Given the description of an element on the screen output the (x, y) to click on. 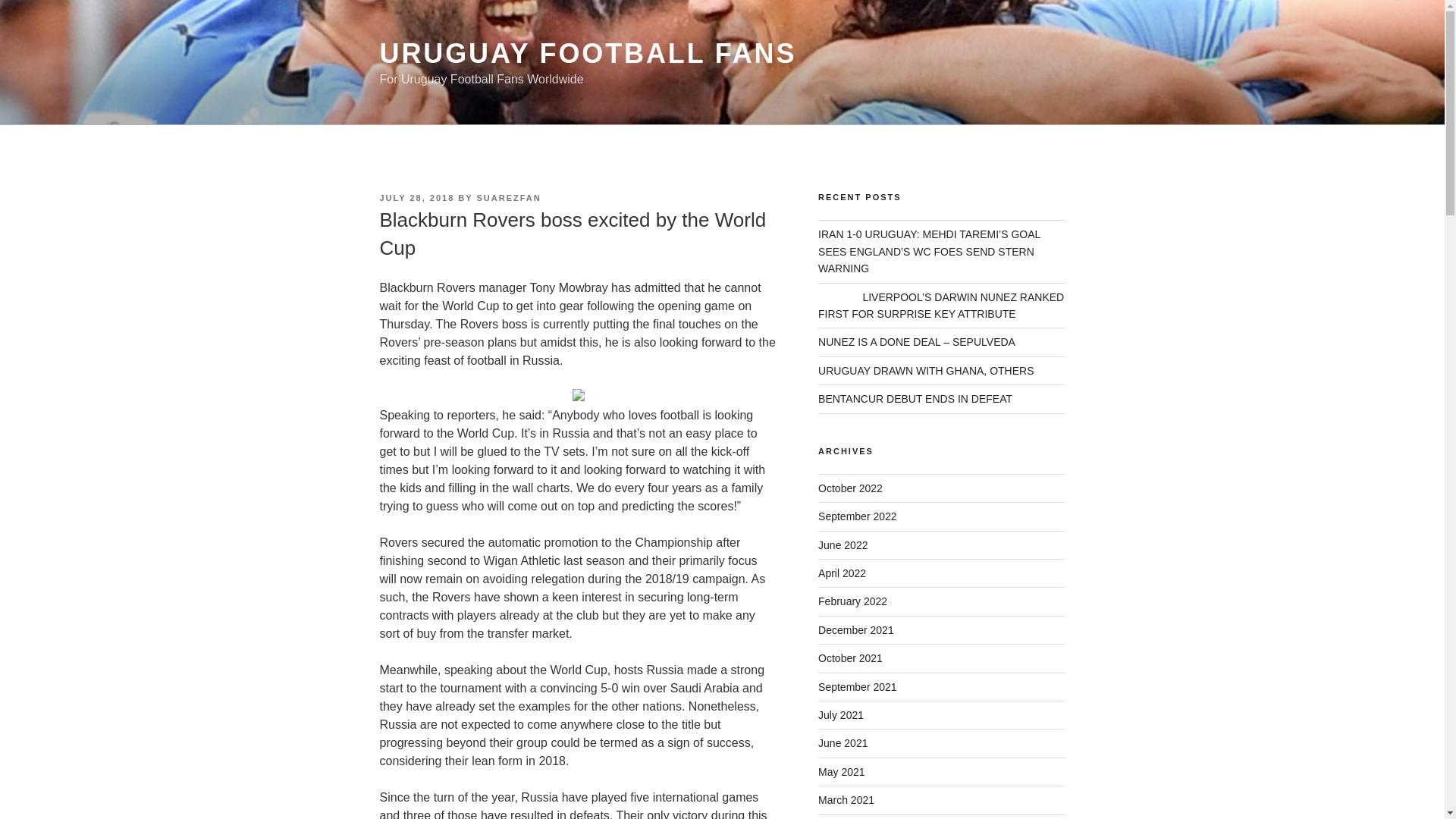
June 2022 (842, 544)
URUGUAY DRAWN WITH GHANA, OTHERS (925, 370)
SUAREZFAN (508, 197)
February 2022 (852, 601)
October 2021 (850, 657)
March 2021 (846, 799)
September 2021 (857, 686)
JULY 28, 2018 (416, 197)
May 2021 (841, 771)
October 2022 (850, 488)
September 2022 (857, 516)
July 2021 (840, 715)
June 2021 (842, 743)
December 2021 (855, 630)
